Given the description of an element on the screen output the (x, y) to click on. 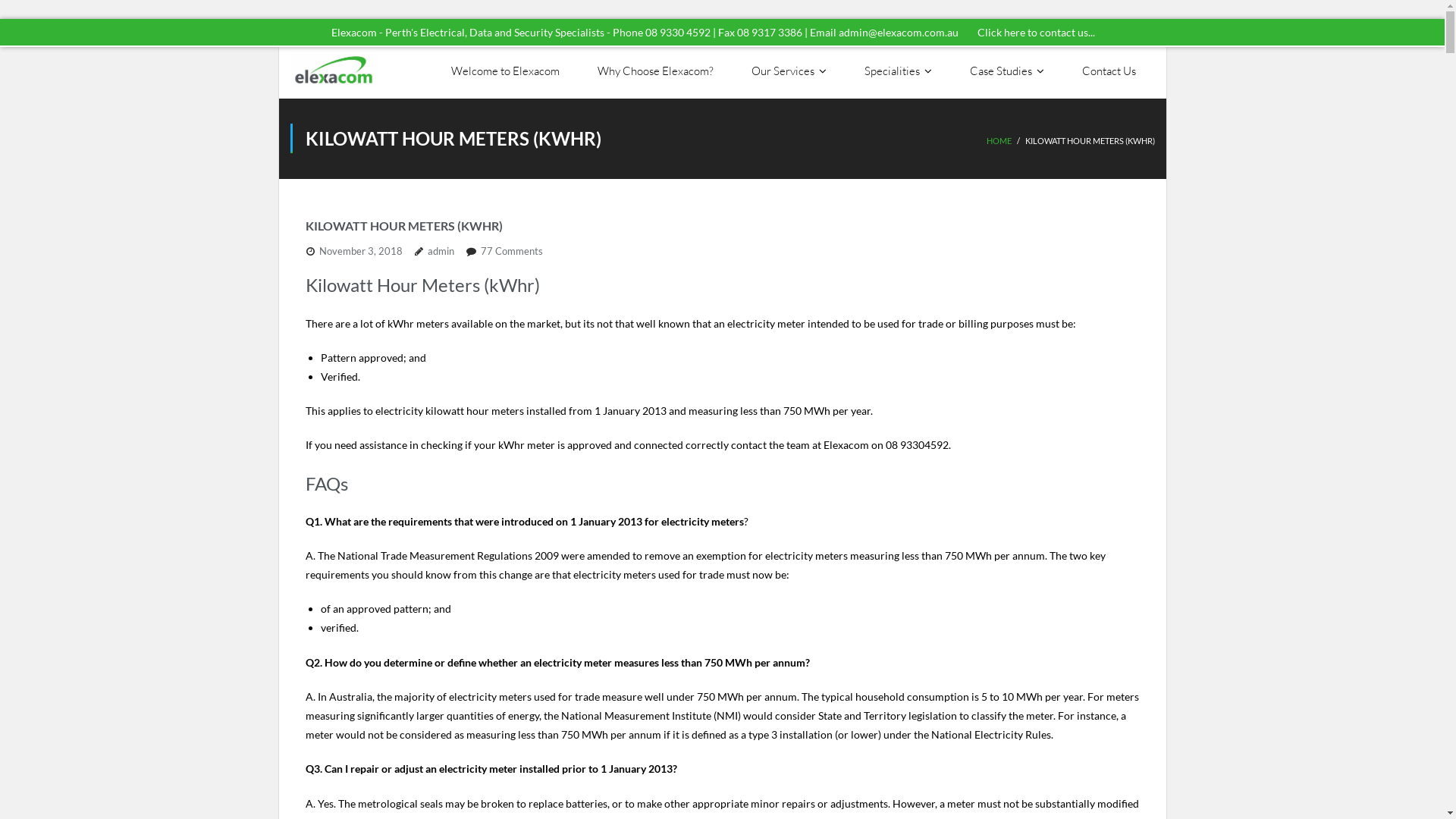
Contact Us Element type: text (1108, 70)
admin Element type: text (440, 250)
Specialities Element type: text (897, 70)
November 3, 2018 Element type: text (359, 250)
Our Services Element type: text (788, 70)
Click here to contact us... Element type: text (1035, 31)
77 Comments Element type: text (511, 250)
HOME Element type: text (997, 140)
Welcome to Elexacom Element type: text (505, 70)
Why Choose Elexacom? Element type: text (654, 70)
Case Studies Element type: text (1006, 70)
